Given the description of an element on the screen output the (x, y) to click on. 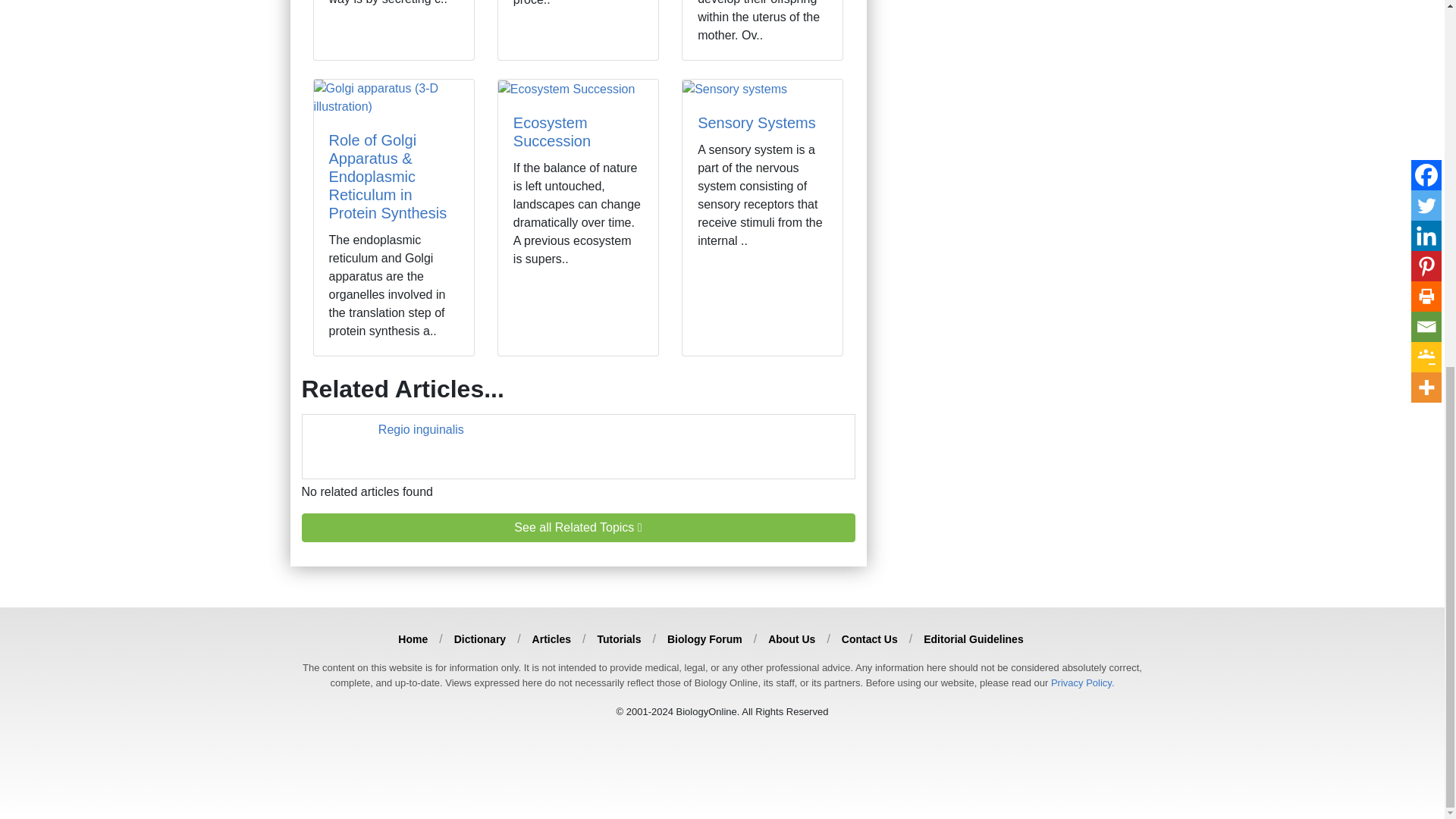
Sensory Systems (756, 122)
See all Related Topics (578, 527)
Ecosystem Succession (552, 131)
Regio inguinalis (421, 429)
